Given the description of an element on the screen output the (x, y) to click on. 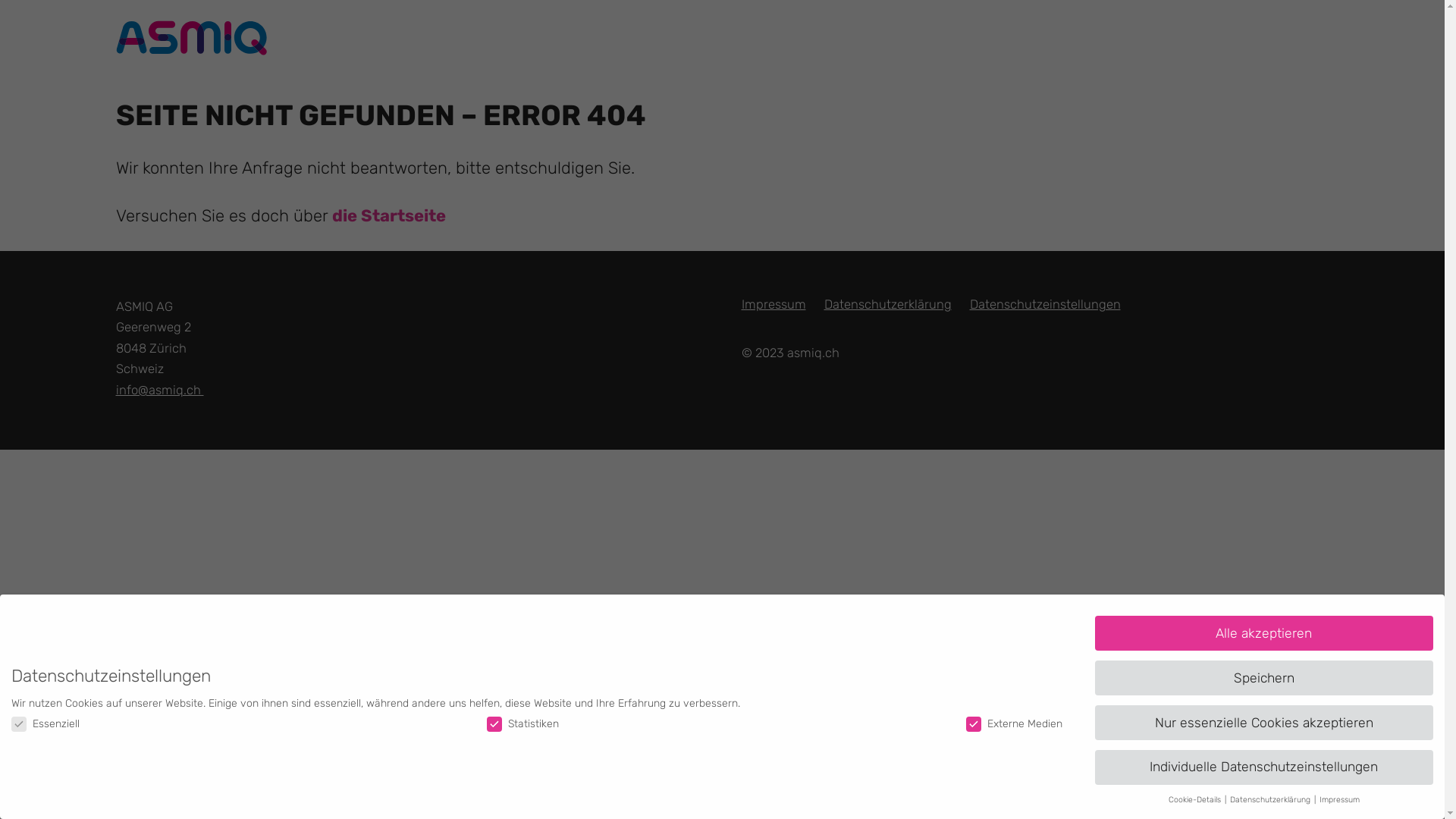
Cookie-Details Element type: text (1195, 799)
info@asmiq.ch Element type: text (159, 389)
Impressum Element type: text (773, 303)
Individuelle Datenschutzeinstellungen Element type: text (1264, 766)
Alle akzeptieren Element type: text (1264, 632)
Impressum Element type: text (1339, 799)
Speichern Element type: text (1264, 677)
Nur essenzielle Cookies akzeptieren Element type: text (1264, 722)
Datenschutzeinstellungen Element type: text (1044, 303)
die Startseite Element type: text (388, 215)
